Given the description of an element on the screen output the (x, y) to click on. 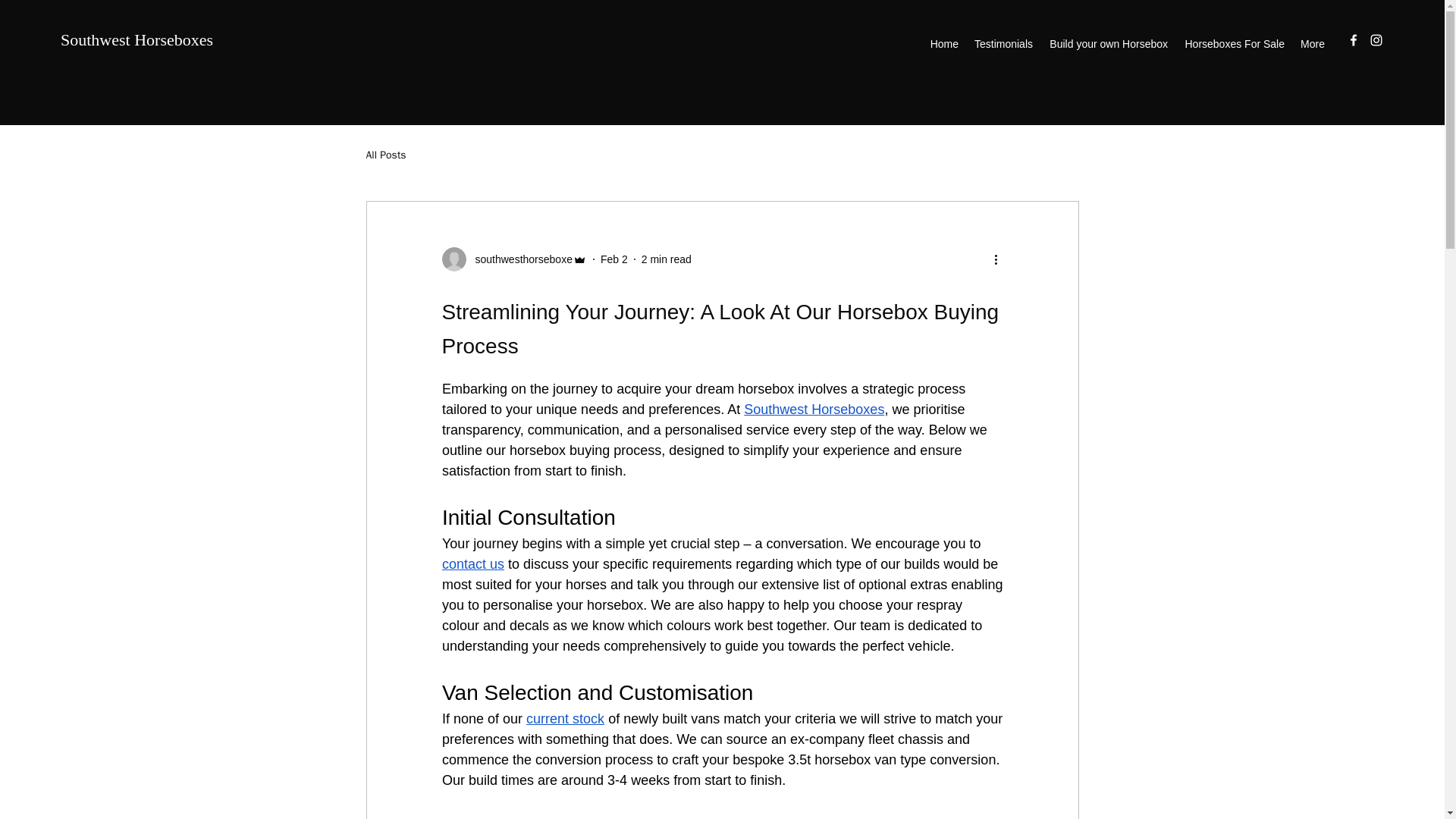
contact us (472, 563)
current stock (564, 718)
Home (943, 43)
2 min read (666, 259)
Southwest Horseboxes (136, 39)
Build your own Horsebox (1107, 43)
southwesthorseboxe (513, 259)
Testimonials (1003, 43)
All Posts (385, 155)
Feb 2 (613, 259)
southwesthorseboxe (518, 259)
Southwest Horseboxes (813, 409)
Horseboxes For Sale (1233, 43)
